Given the description of an element on the screen output the (x, y) to click on. 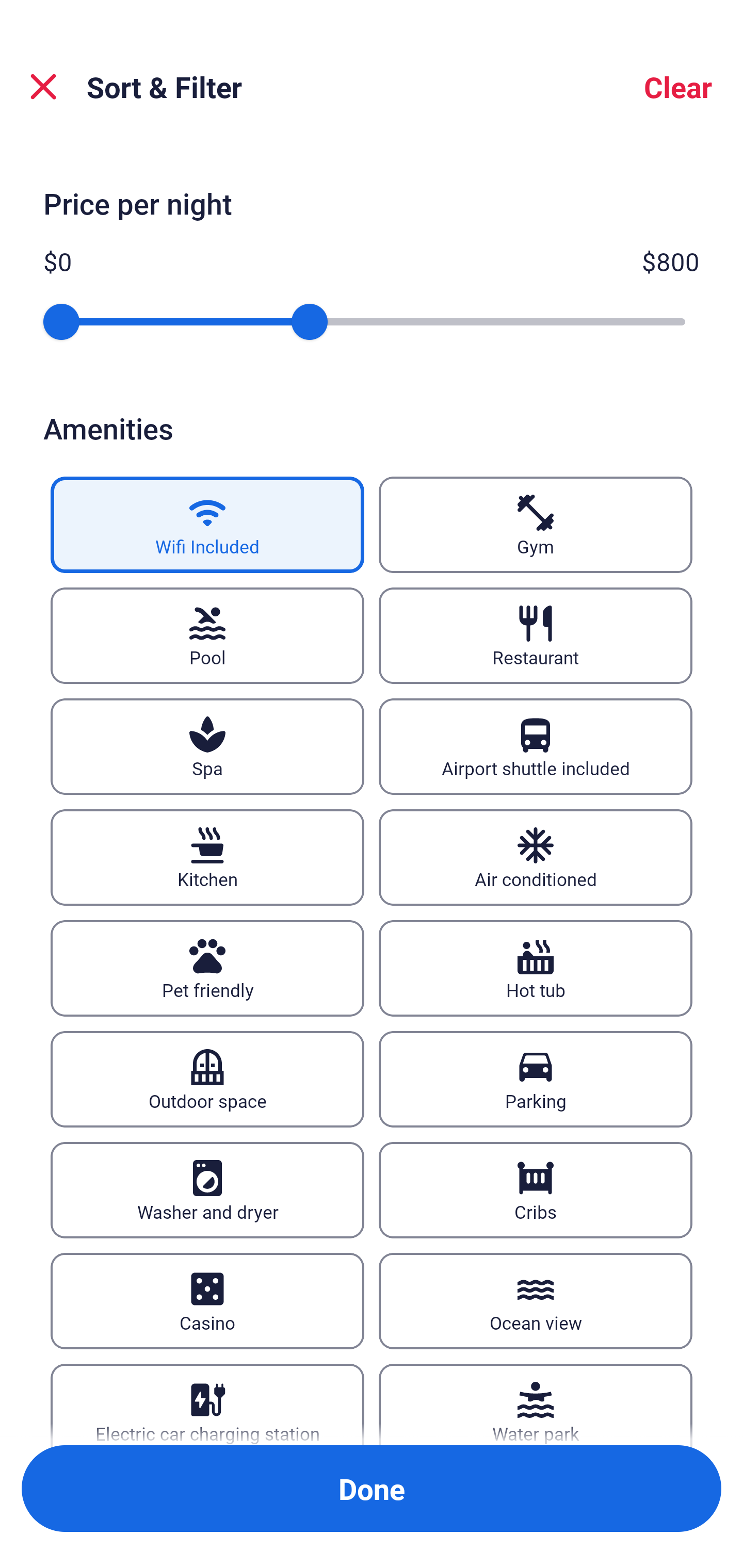
Close Sort and Filter (43, 86)
Clear (677, 86)
Wifi Included (207, 524)
Gym (535, 524)
Pool (207, 635)
Restaurant (535, 635)
Spa (207, 745)
Airport shuttle included (535, 745)
Kitchen (207, 857)
Air conditioned (535, 857)
Pet friendly (207, 968)
Hot tub (535, 968)
Outdoor space (207, 1079)
Parking (535, 1079)
Washer and dryer (207, 1189)
Cribs (535, 1189)
Casino (207, 1301)
Ocean view (535, 1301)
Electric car charging station (207, 1404)
Water park (535, 1404)
Apply and close Sort and Filter Done (371, 1488)
